Given the description of an element on the screen output the (x, y) to click on. 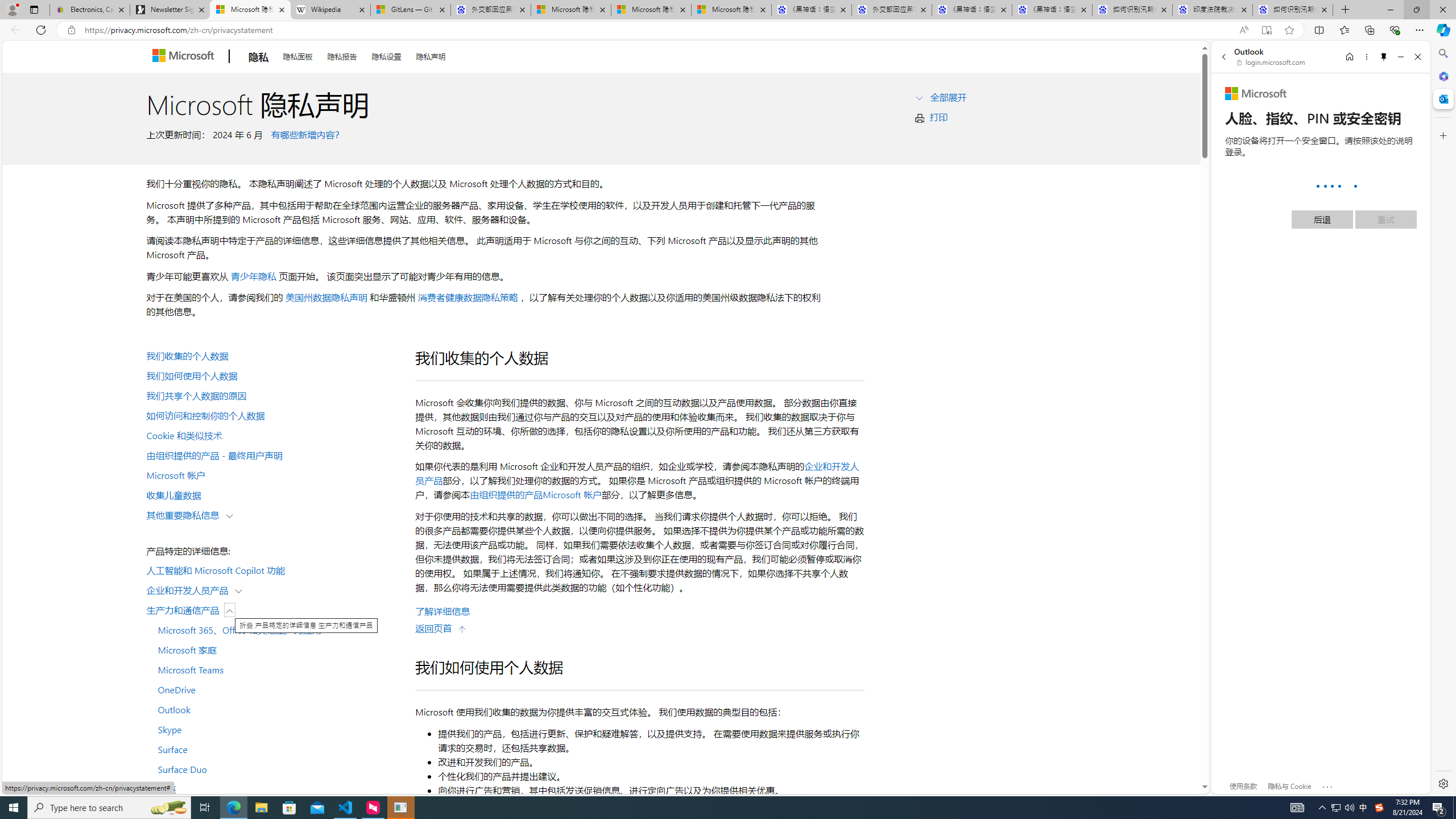
Microsoft Teams (274, 668)
Surface (274, 749)
Newsletter Sign Up (170, 9)
OneDrive (274, 689)
